Given the description of an element on the screen output the (x, y) to click on. 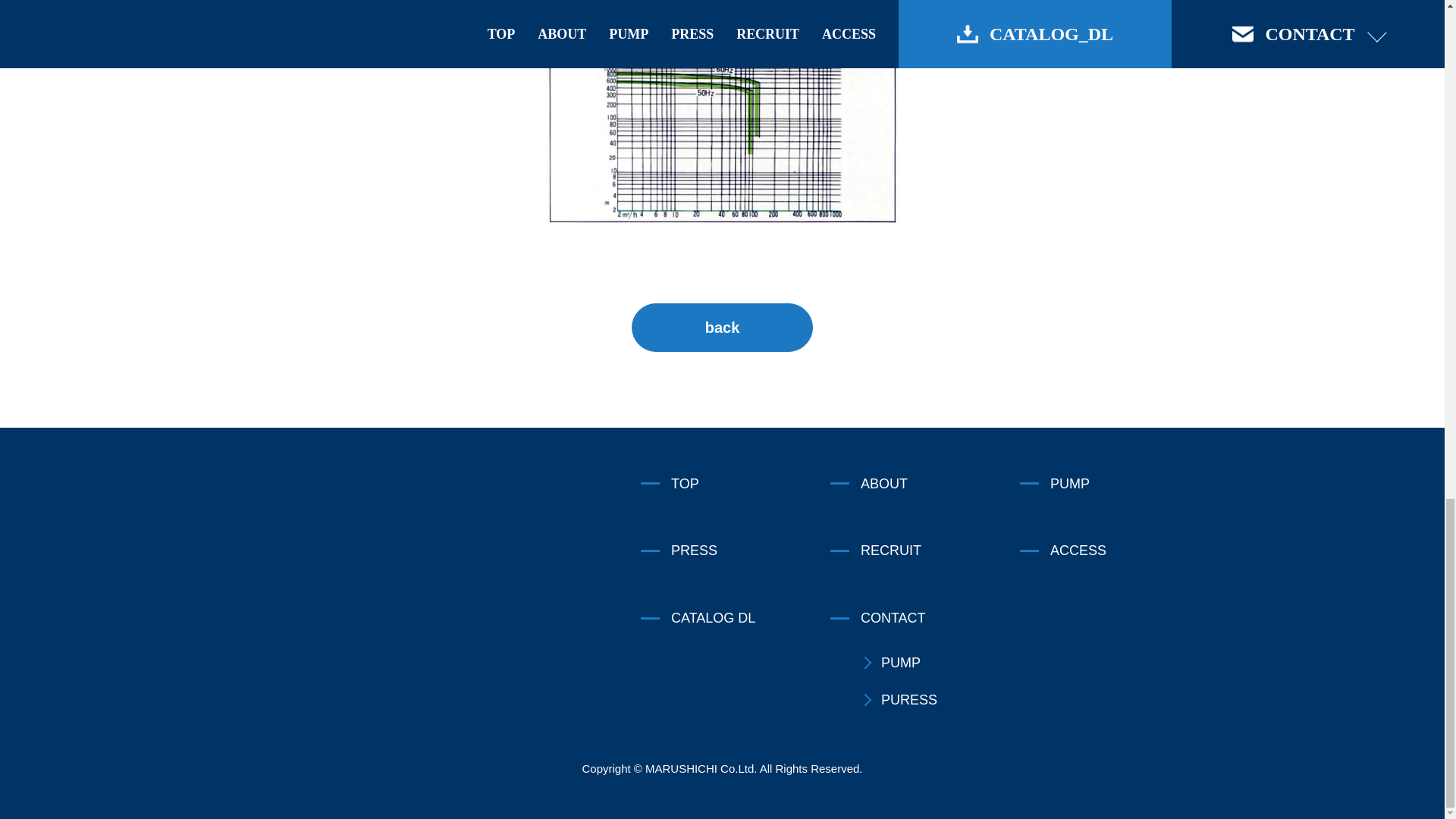
ACCESS (1114, 550)
RECRUIT (924, 550)
CONTACT (924, 618)
PUMP (1114, 484)
CATALOG DL (734, 618)
TOP (734, 484)
PRESS (734, 550)
PUMP (940, 662)
PURESS (940, 700)
back (721, 327)
